Given the description of an element on the screen output the (x, y) to click on. 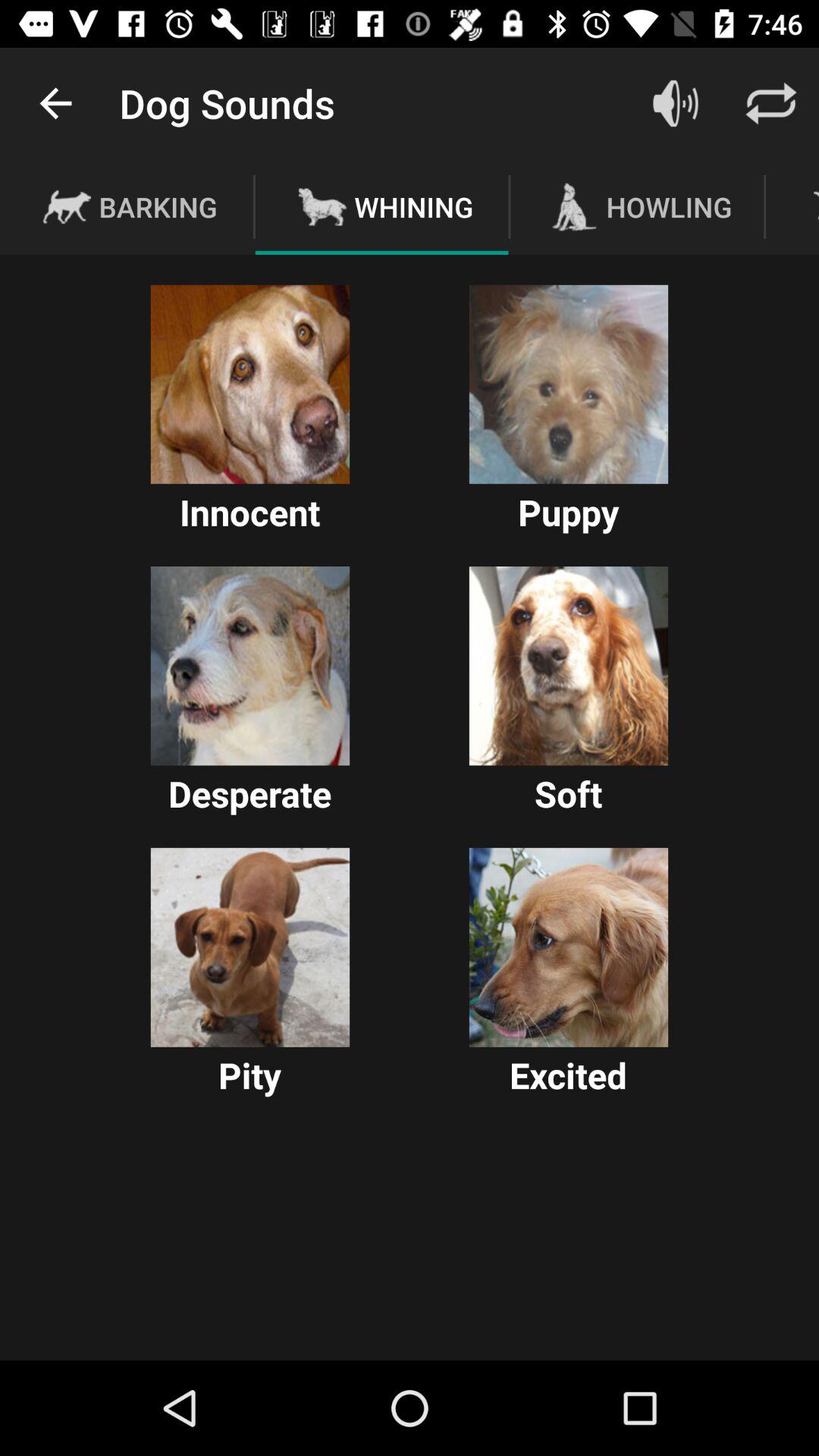
press the item next to whining item (675, 103)
